Given the description of an element on the screen output the (x, y) to click on. 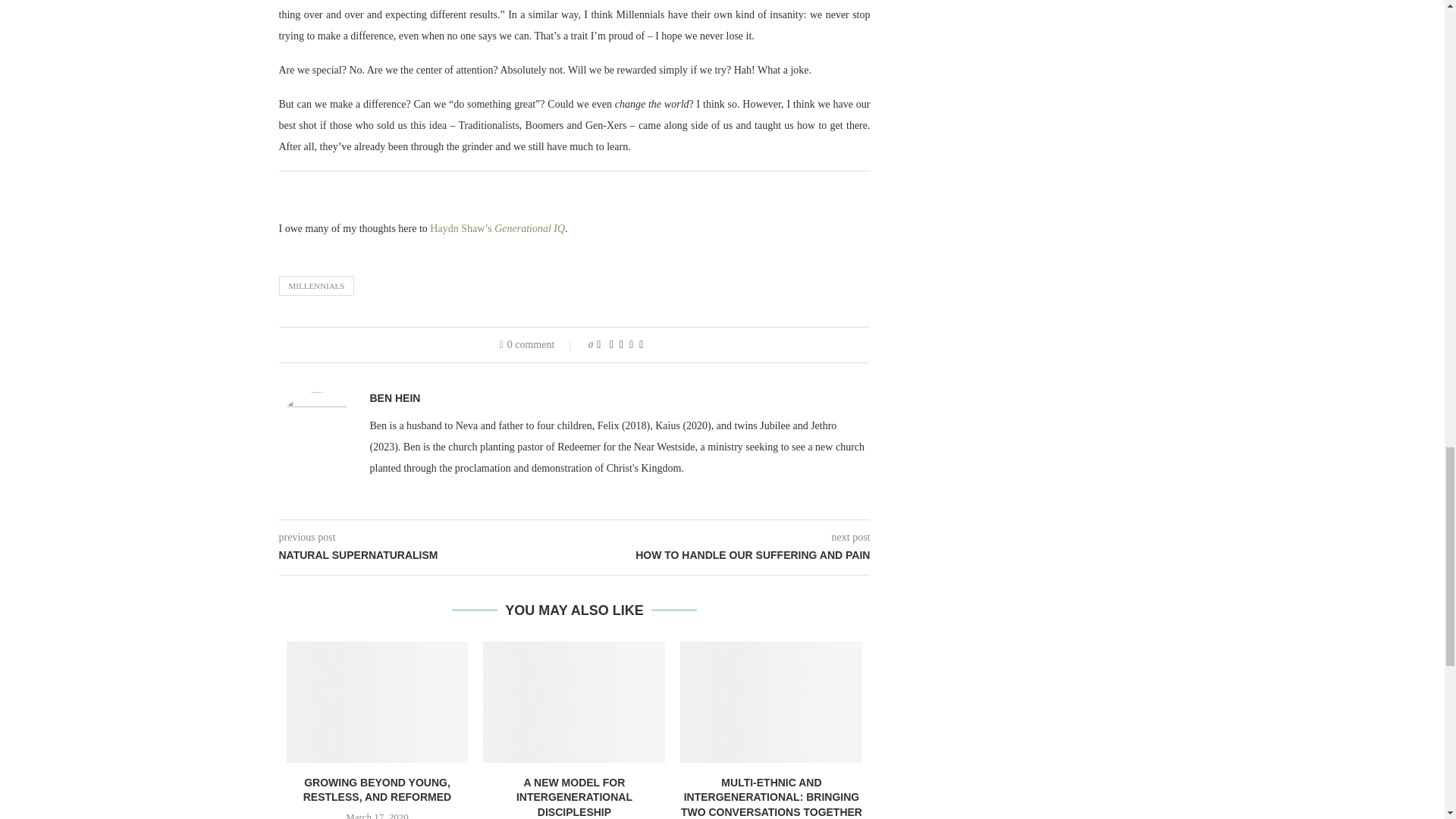
MILLENNIALS (317, 285)
A New Model for Intergenerational Discipleship (574, 701)
Growing Beyond Young, Restless, and Reformed (377, 701)
Author Ben Hein (394, 398)
